Given the description of an element on the screen output the (x, y) to click on. 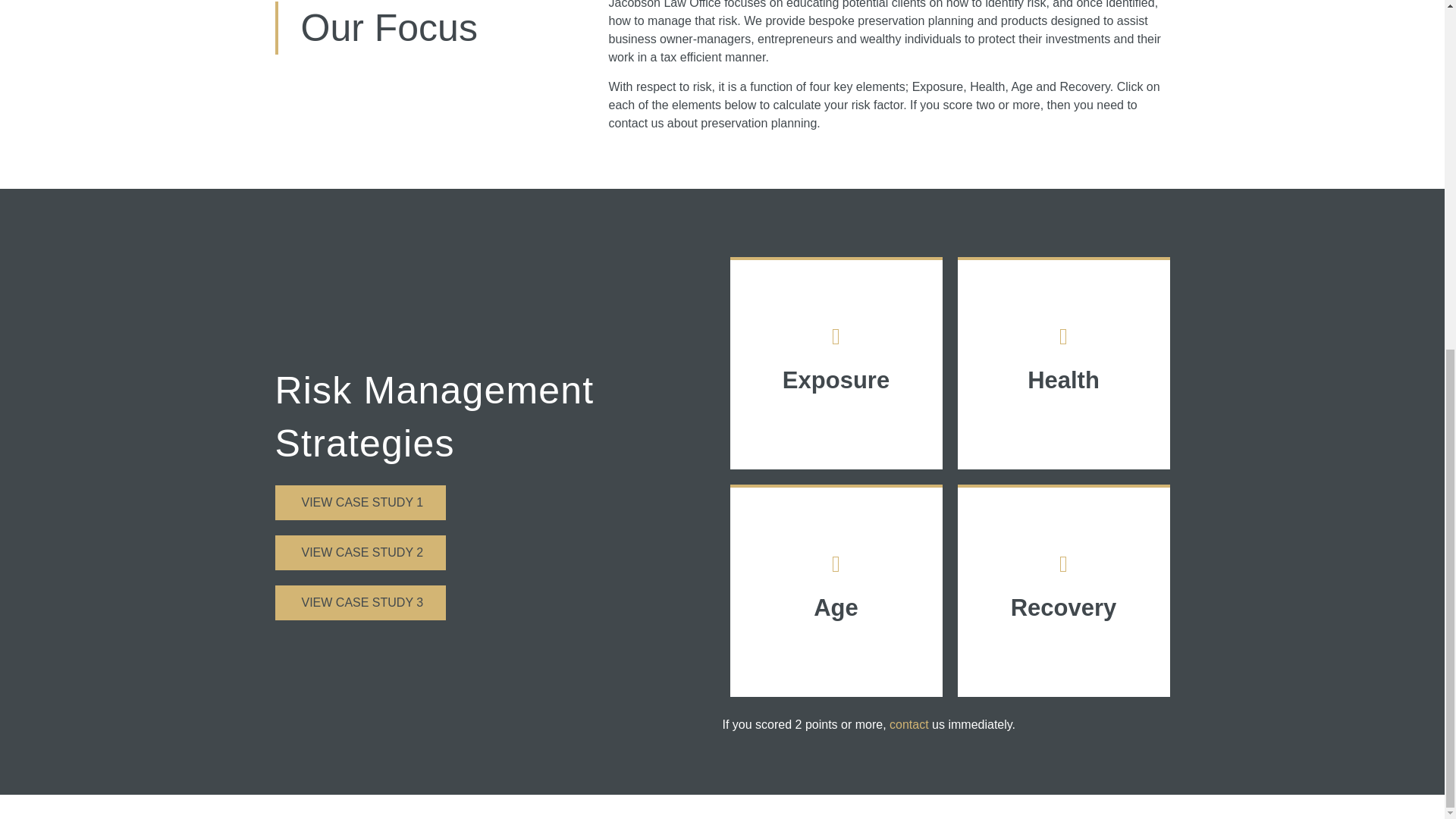
VIEW CASE STUDY 3 (360, 602)
VIEW CASE STUDY 2 (360, 552)
contact (908, 724)
VIEW CASE STUDY 1 (360, 502)
